Given the description of an element on the screen output the (x, y) to click on. 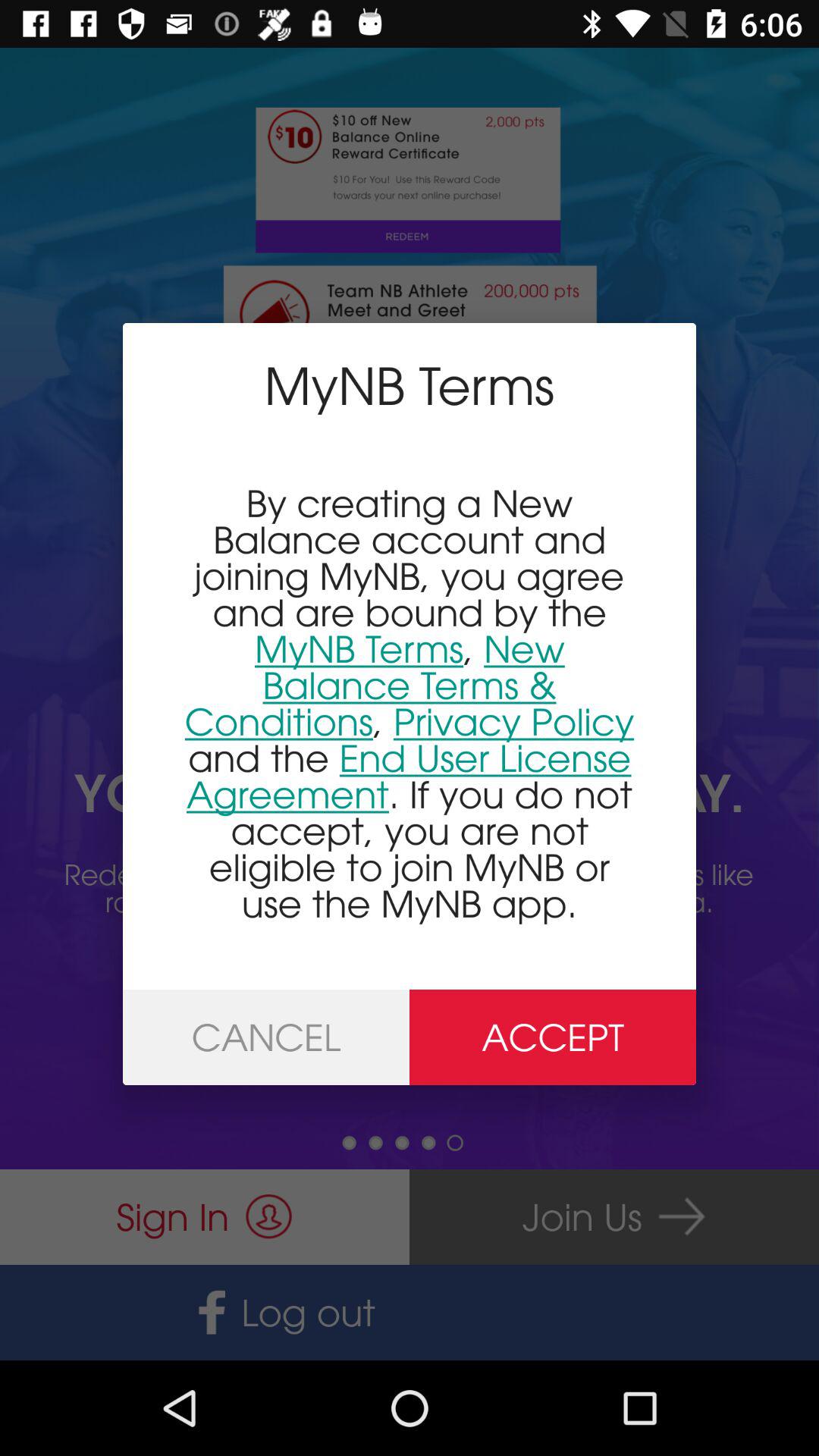
click item above the cancel (409, 702)
